Given the description of an element on the screen output the (x, y) to click on. 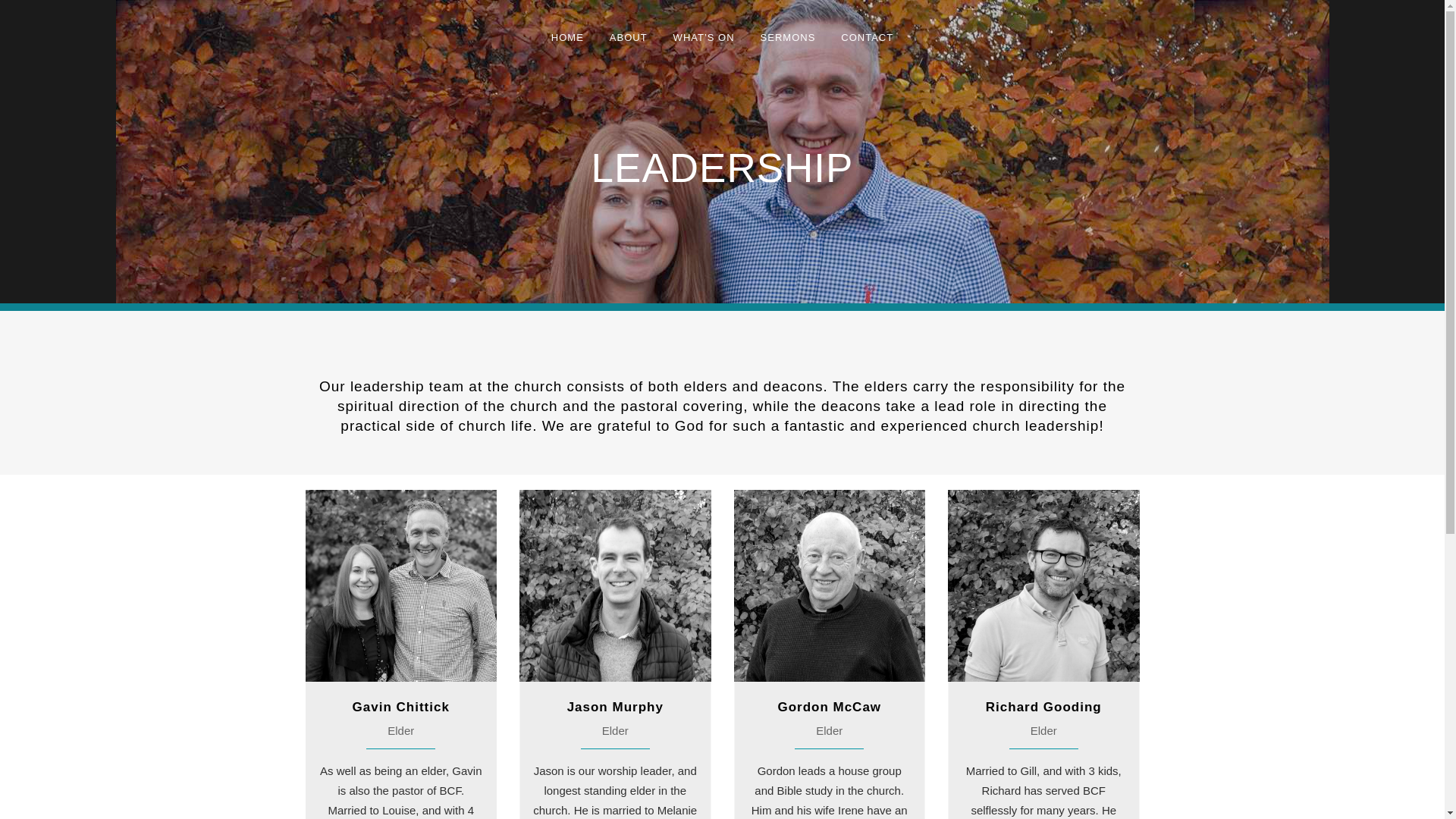
SERMONS (788, 38)
Privacy Policy (689, 796)
CONTACT (866, 38)
Terms of Use (757, 796)
